Given the description of an element on the screen output the (x, y) to click on. 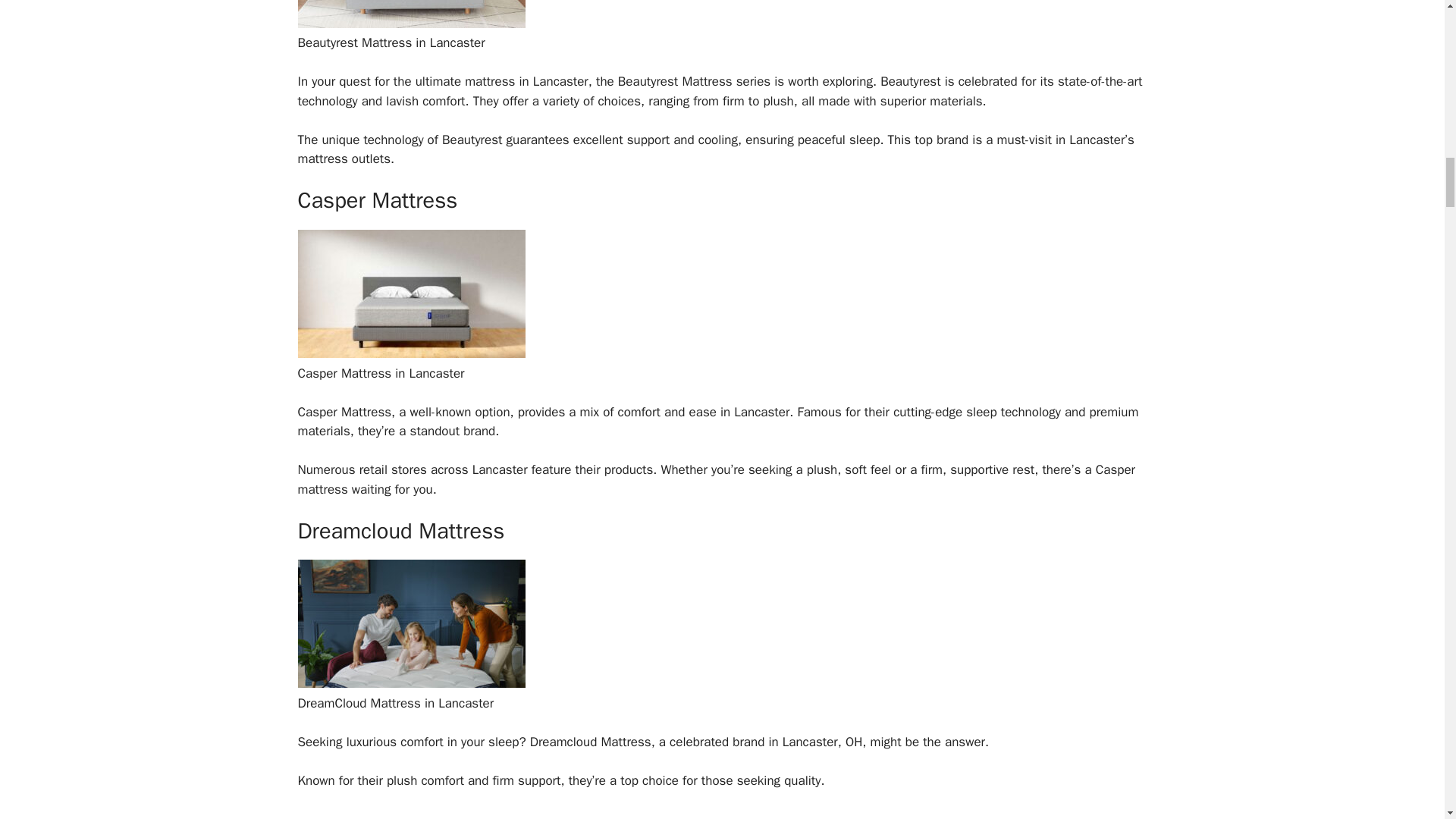
Casper Mattress Lancaster (410, 353)
DreamCloud Mattress Near Me in Lancaster (410, 683)
Beautyrest Mattress Lancaster (410, 23)
